Given the description of an element on the screen output the (x, y) to click on. 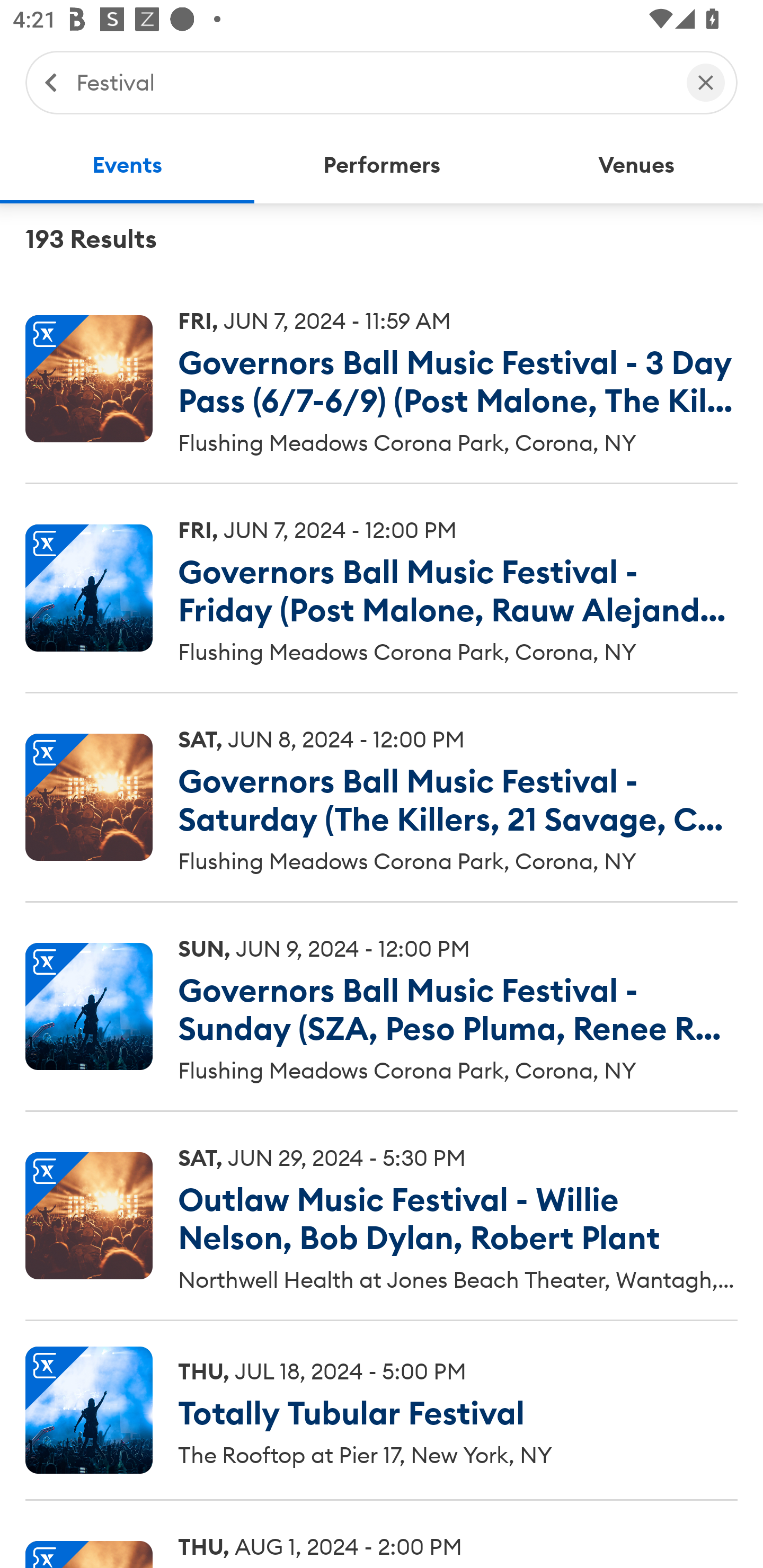
Festival (371, 81)
Clear Search (705, 81)
Performers (381, 165)
Venues (635, 165)
